Given the description of an element on the screen output the (x, y) to click on. 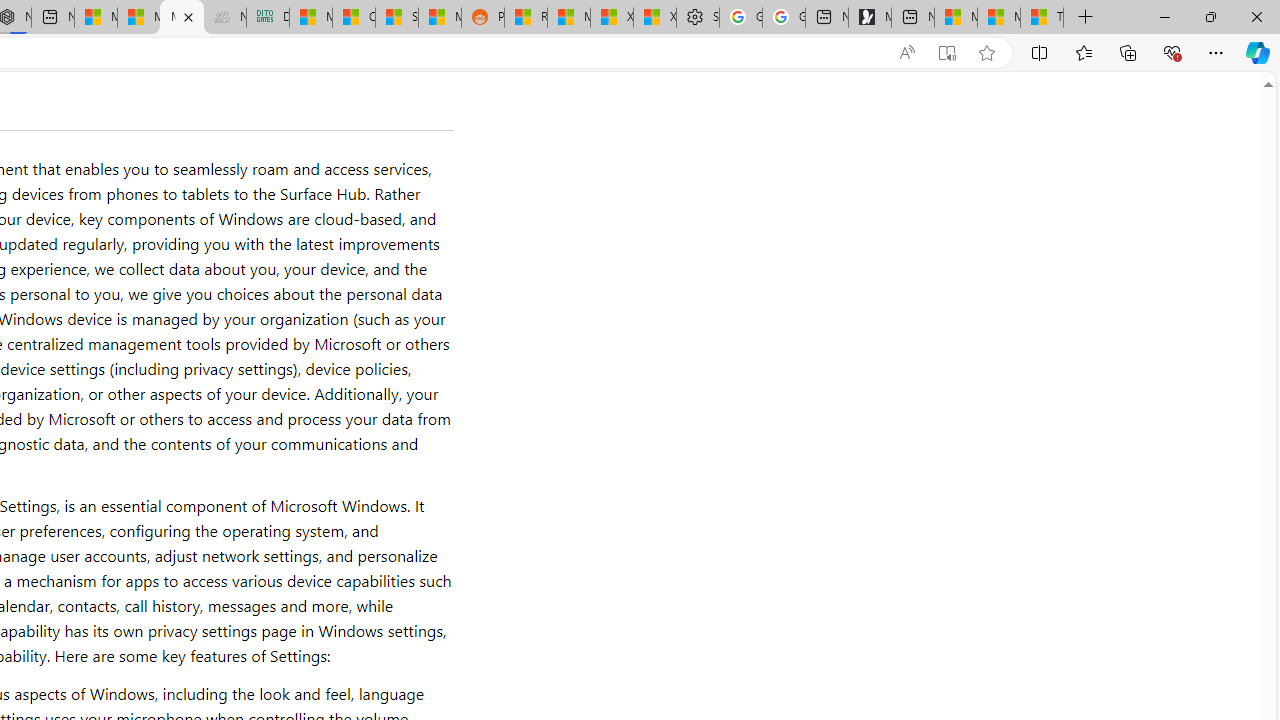
DITOGAMES AG Imprint (268, 17)
Stocks - MSN (397, 17)
